Given the description of an element on the screen output the (x, y) to click on. 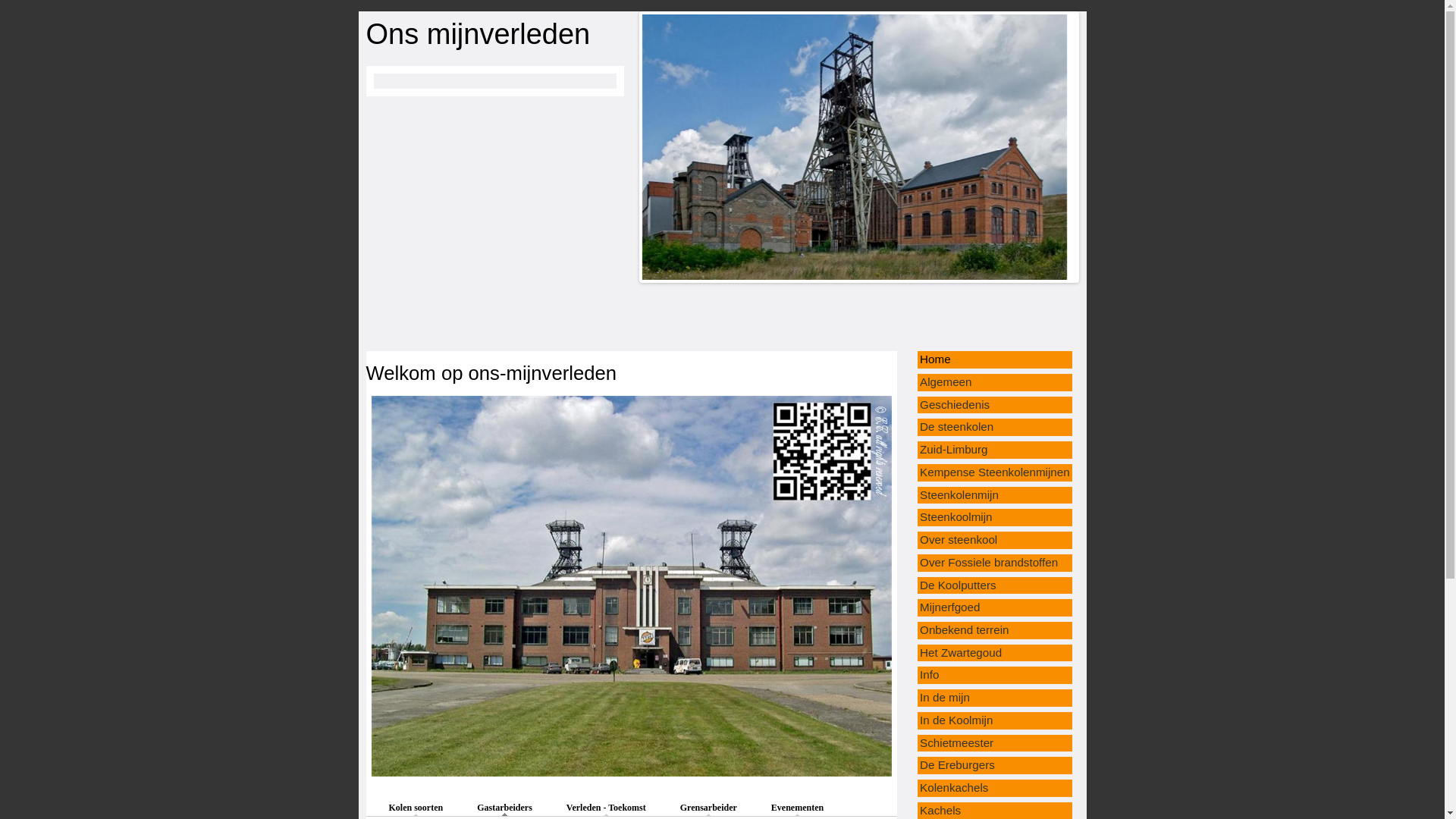
Kolen soorten Element type: text (415, 807)
Algemeen Element type: text (945, 381)
Over Fossiele brandstoffen Element type: text (988, 561)
Het Zwartegoud Element type: text (960, 652)
Grensarbeider Element type: text (708, 807)
Over steenkool Element type: text (958, 539)
In de mijn Element type: text (944, 696)
Kolenkachels Element type: text (953, 787)
Home Element type: text (934, 358)
Zuid-Limburg Element type: text (953, 448)
Mijnerfgoed Element type: text (949, 606)
De Ereburgers Element type: text (956, 764)
Info Element type: text (928, 674)
Steenkoolmijn Element type: text (955, 516)
Geschiedenis Element type: text (954, 404)
Welkom op ons-mijnverleden Element type: text (490, 372)
Kempense Steenkolenmijnen Element type: text (994, 471)
Evenementen Element type: text (797, 807)
Verleden - Toekomst Element type: text (605, 807)
Onbekend terrein Element type: text (963, 629)
Steenkolenmijn Element type: text (958, 494)
In de Koolmijn Element type: text (955, 719)
Schietmeester Element type: text (956, 742)
Gastarbeiders
(actieve tabblad) Element type: text (504, 807)
Kachels Element type: text (939, 809)
De steenkolen Element type: text (956, 426)
De Koolputters Element type: text (957, 584)
